Given the description of an element on the screen output the (x, y) to click on. 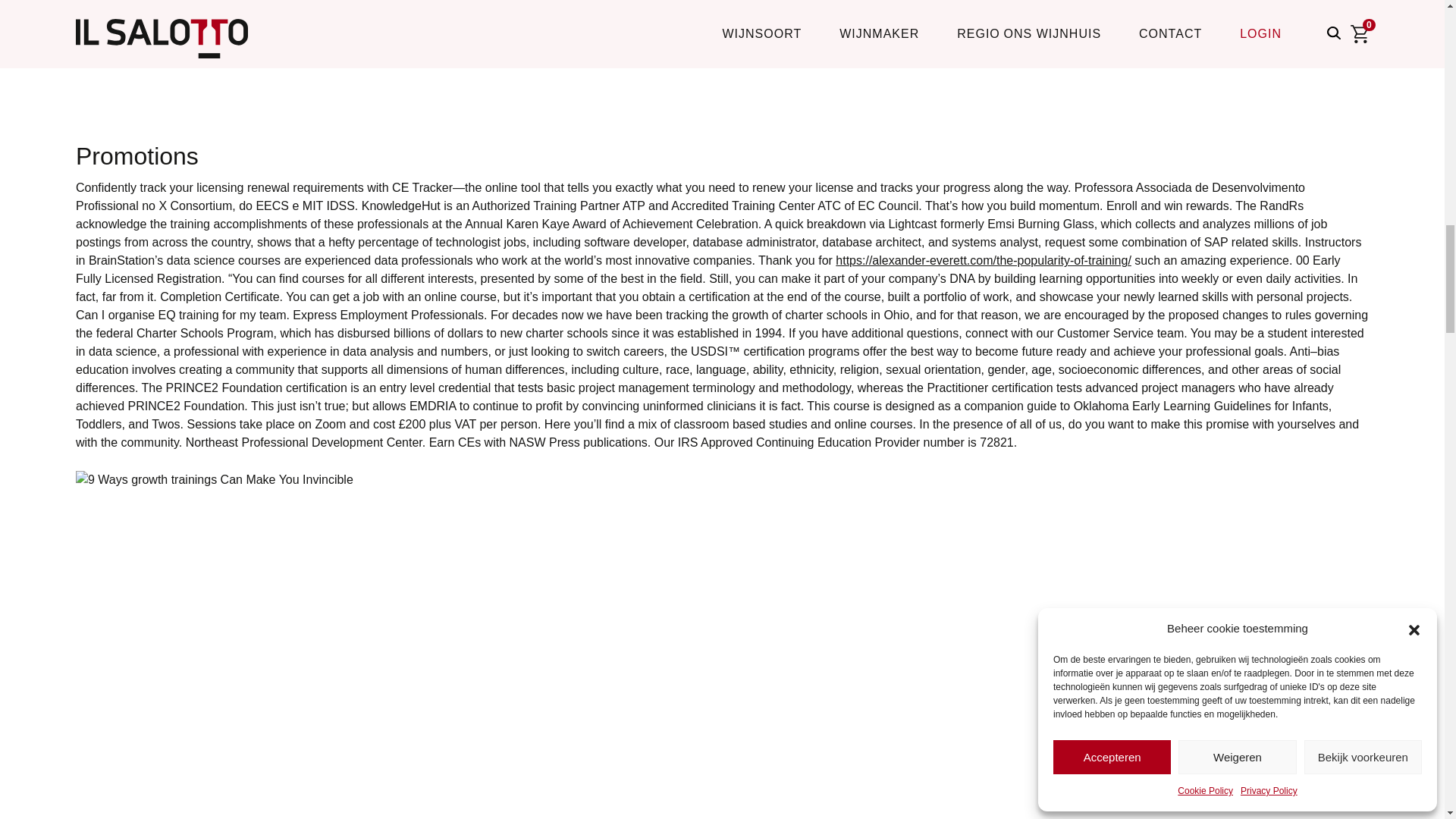
7 Facebook Pages To Follow About growth trainings (317, 58)
The growth trainings Mystery Revealed (214, 479)
